Given the description of an element on the screen output the (x, y) to click on. 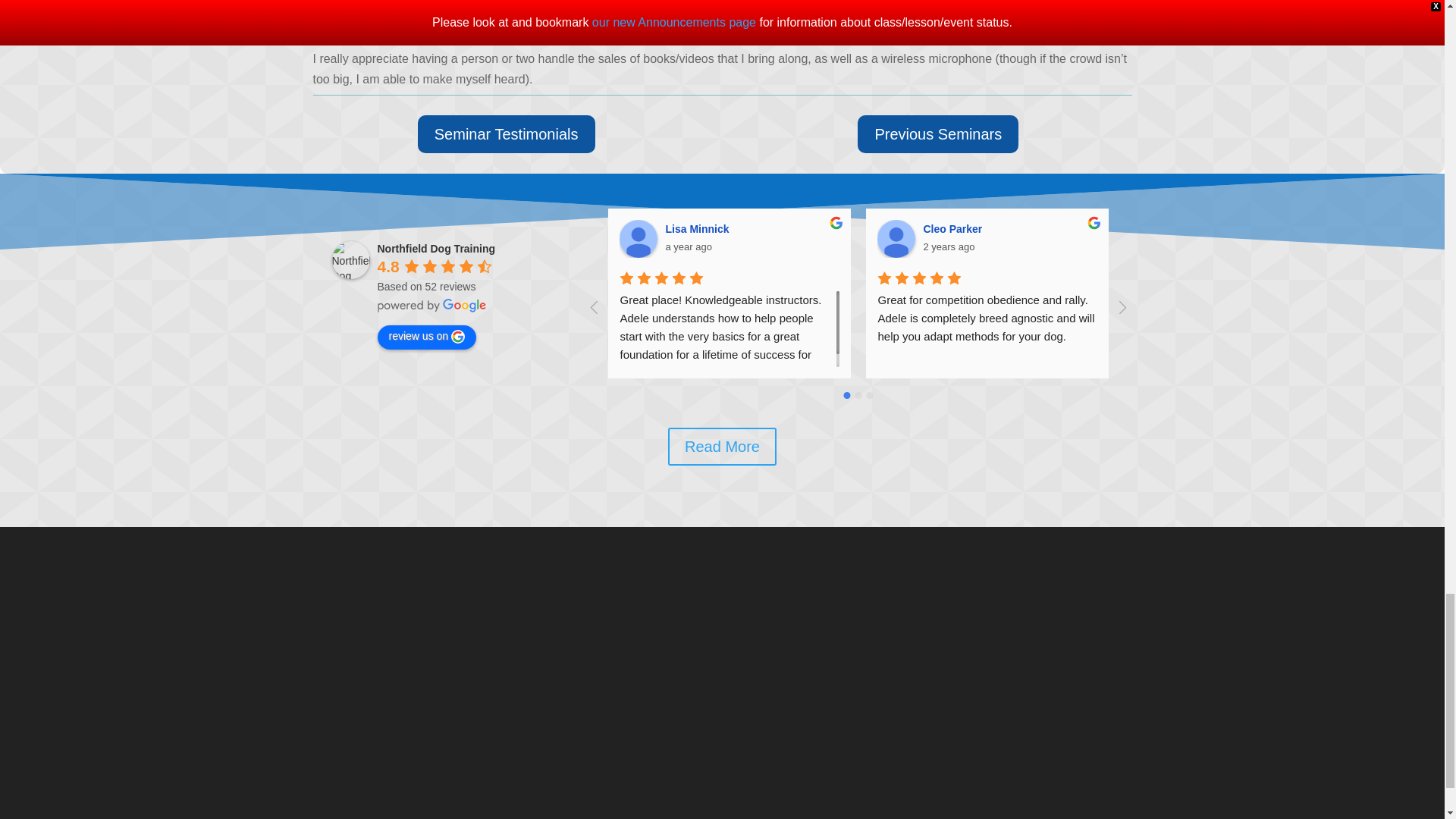
Northfield Dog Training (350, 259)
Cleo Parker (896, 238)
Kabrina Rozine (1412, 238)
Lisa Minnick (639, 238)
Chris-Ann Paterson Welton (1154, 238)
powered by Google (431, 305)
